Given the description of an element on the screen output the (x, y) to click on. 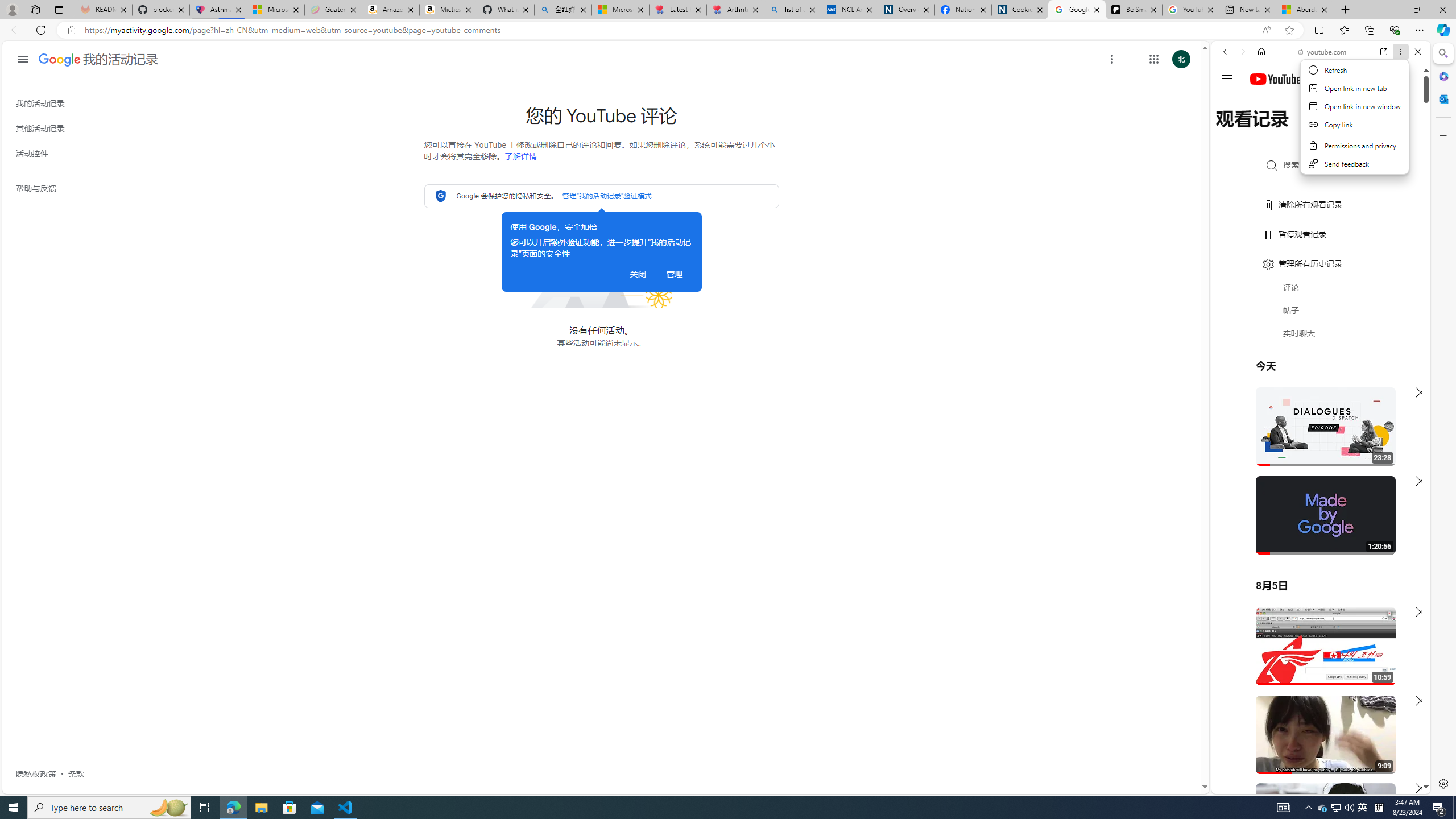
NCL Adult Asthma Inhaler Choice Guideline (849, 9)
Close Customize pane (1442, 135)
Music (1320, 309)
Class: gb_E (1153, 59)
Context (1354, 123)
